Given the description of an element on the screen output the (x, y) to click on. 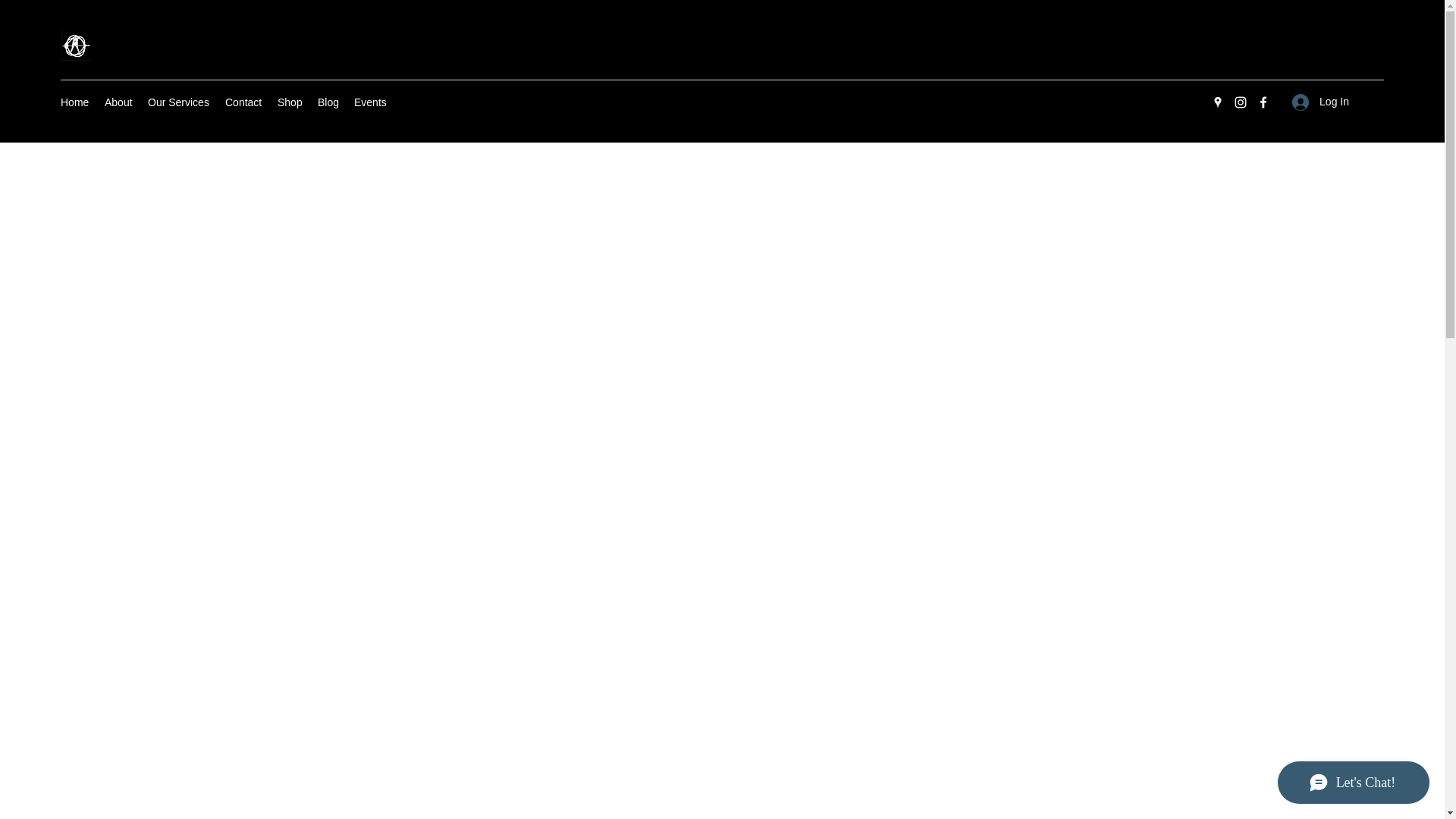
Home (74, 101)
Our Services (177, 101)
About (118, 101)
Events (370, 101)
Contact (242, 101)
Shop (289, 101)
Blog (328, 101)
Log In (1320, 101)
